Given the description of an element on the screen output the (x, y) to click on. 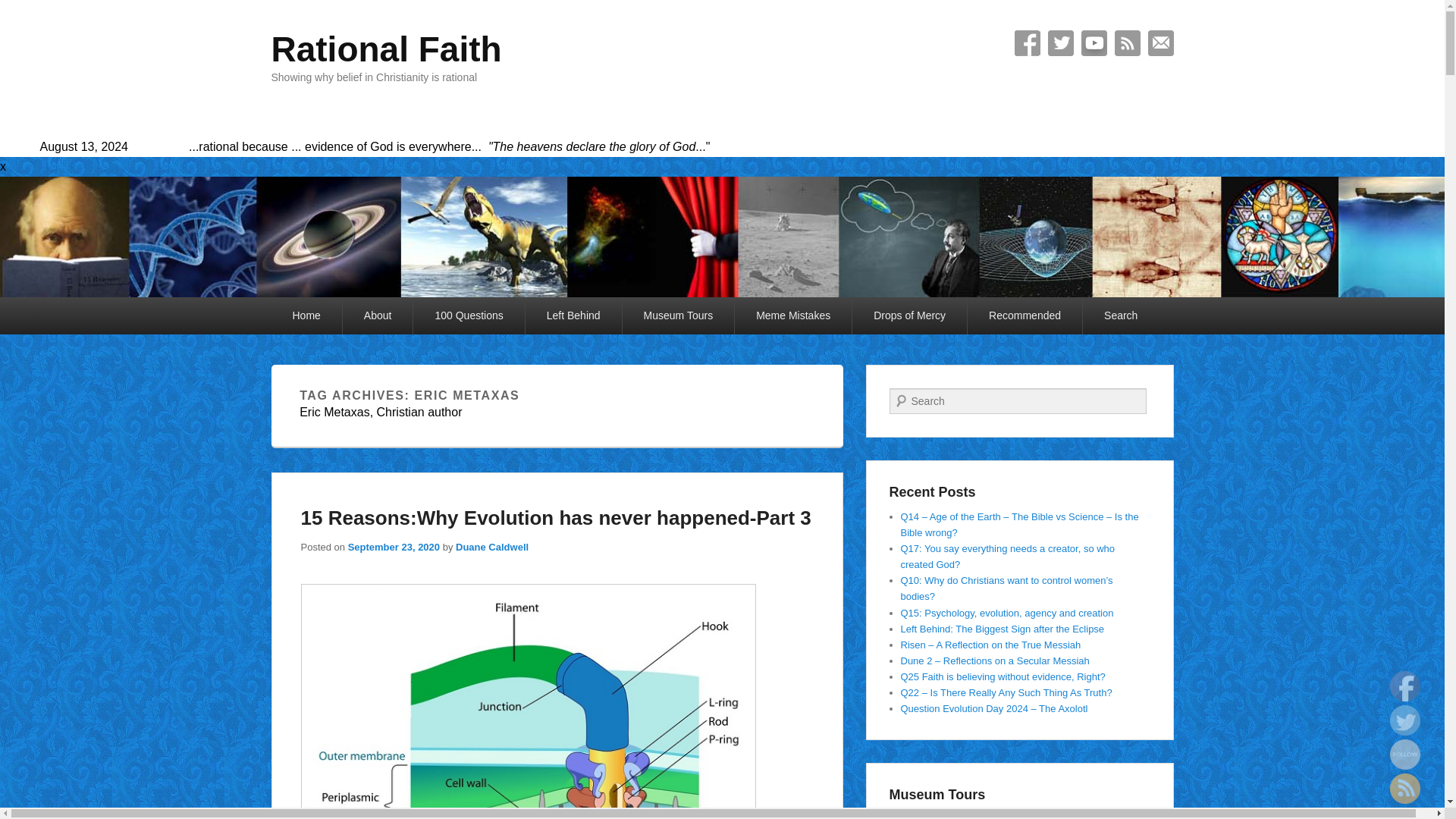
Contact (1160, 43)
Facebook (1027, 43)
Rational Faith (386, 48)
100 Questions (468, 315)
RSS (1127, 43)
15 Reasons:Why Evolution has never happened-Part 3 (554, 517)
12:54 am (393, 546)
Recommended (1024, 315)
Twitter (1061, 43)
